Given the description of an element on the screen output the (x, y) to click on. 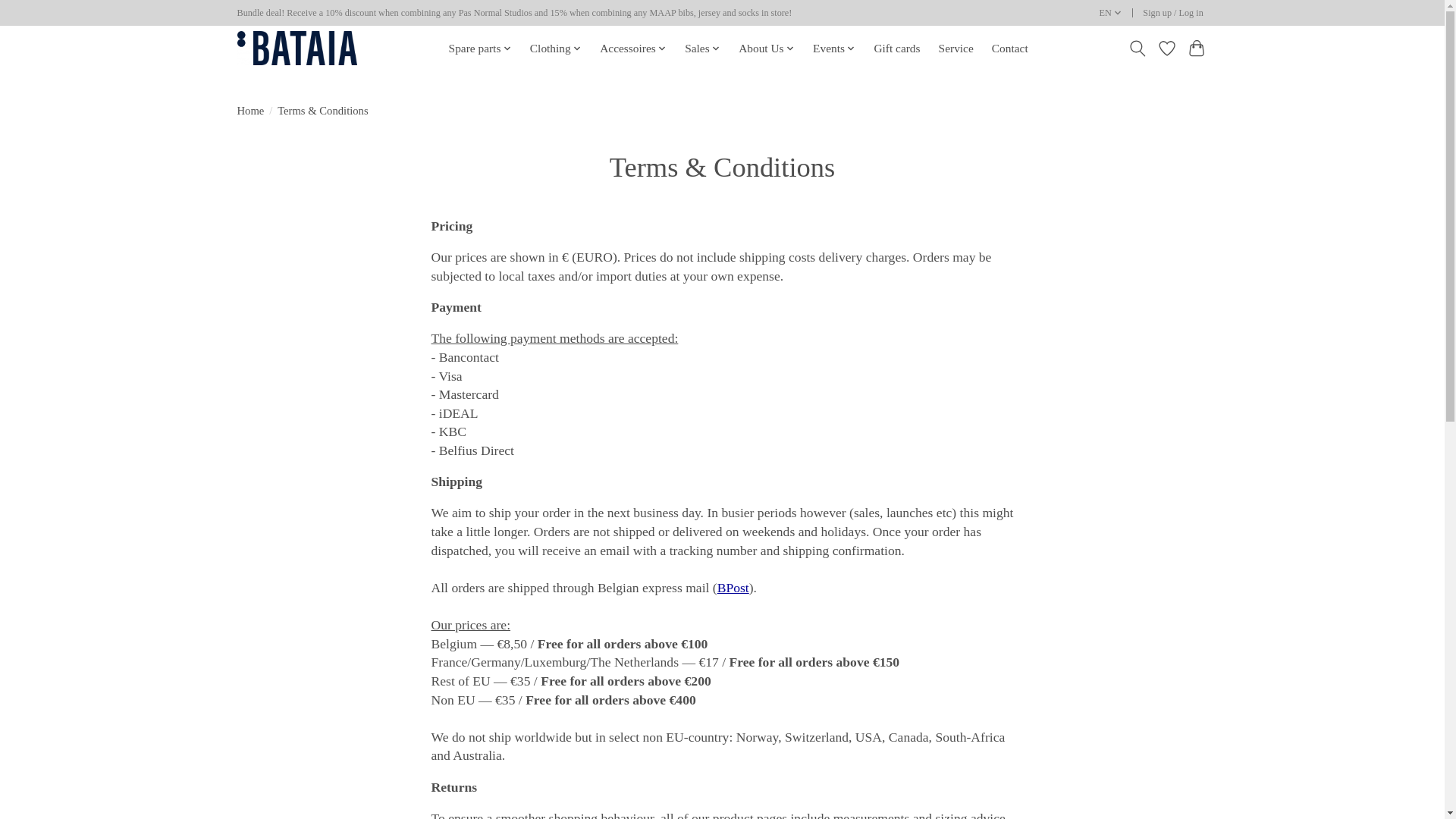
My account (1173, 13)
Bpost (733, 587)
Spare parts (479, 47)
Clothing (556, 47)
All in, all the time! (295, 48)
EN (1110, 13)
